Given the description of an element on the screen output the (x, y) to click on. 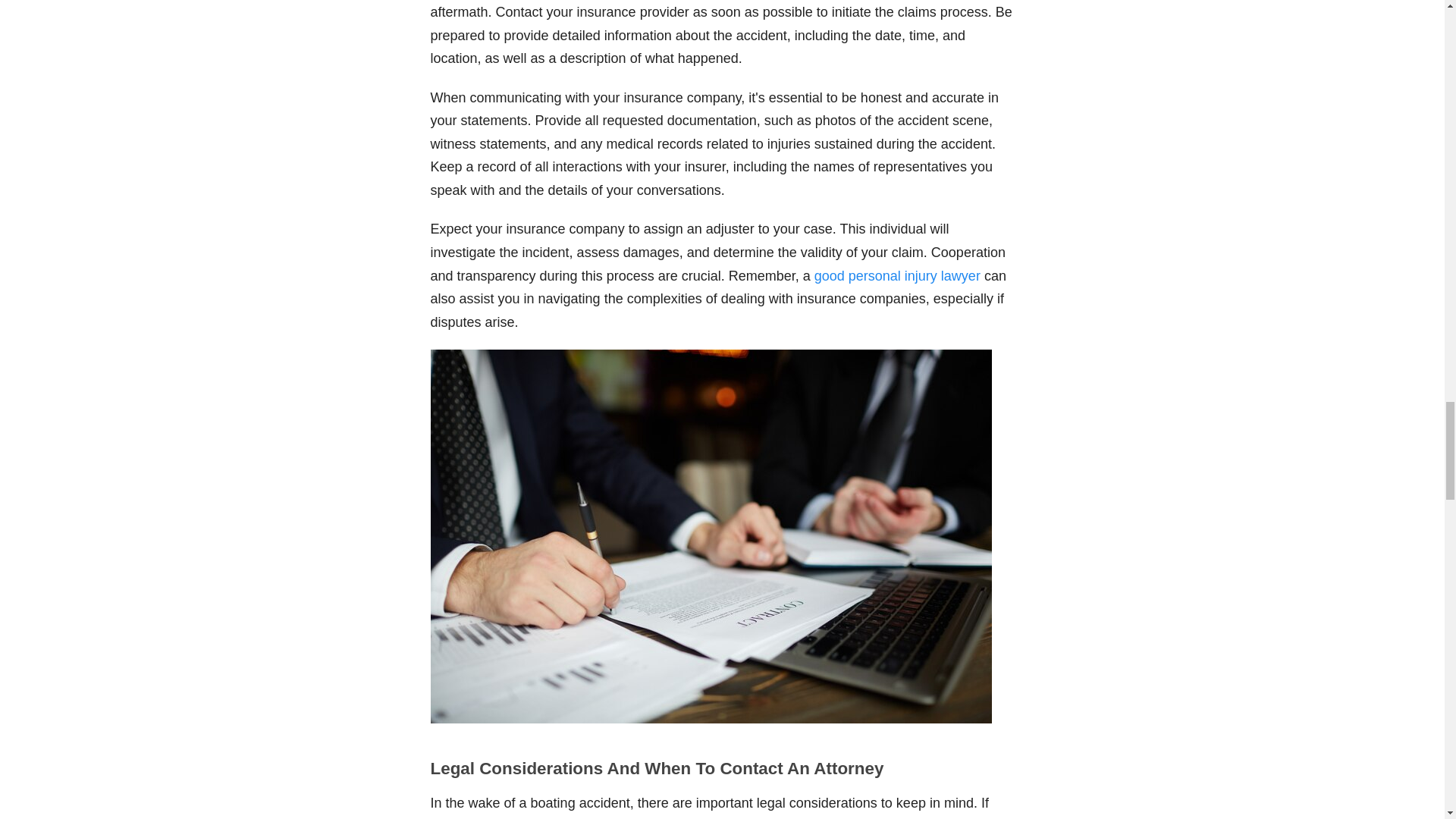
good personal injury lawyer (896, 275)
